Given the description of an element on the screen output the (x, y) to click on. 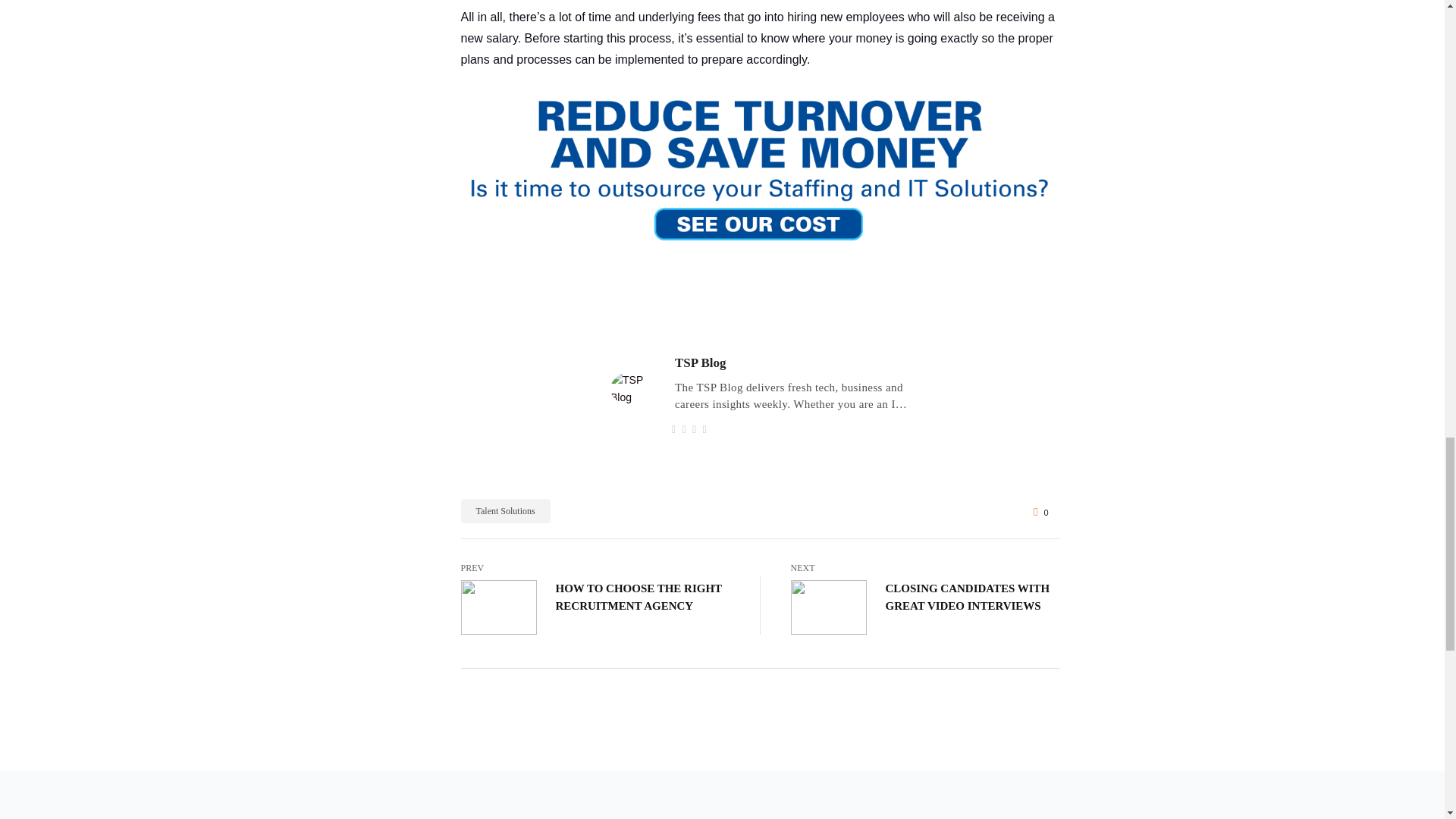
CLOSING CANDIDATES WITH GREAT VIDEO INTERVIEWS (972, 596)
0 (1040, 511)
PREV (595, 567)
TSP Blog (700, 362)
Talent Solutions (505, 510)
HOW TO CHOOSE THE RIGHT RECRUITMENT AGENCY (641, 596)
NEXT (924, 567)
TSP Blog (700, 362)
